Given the description of an element on the screen output the (x, y) to click on. 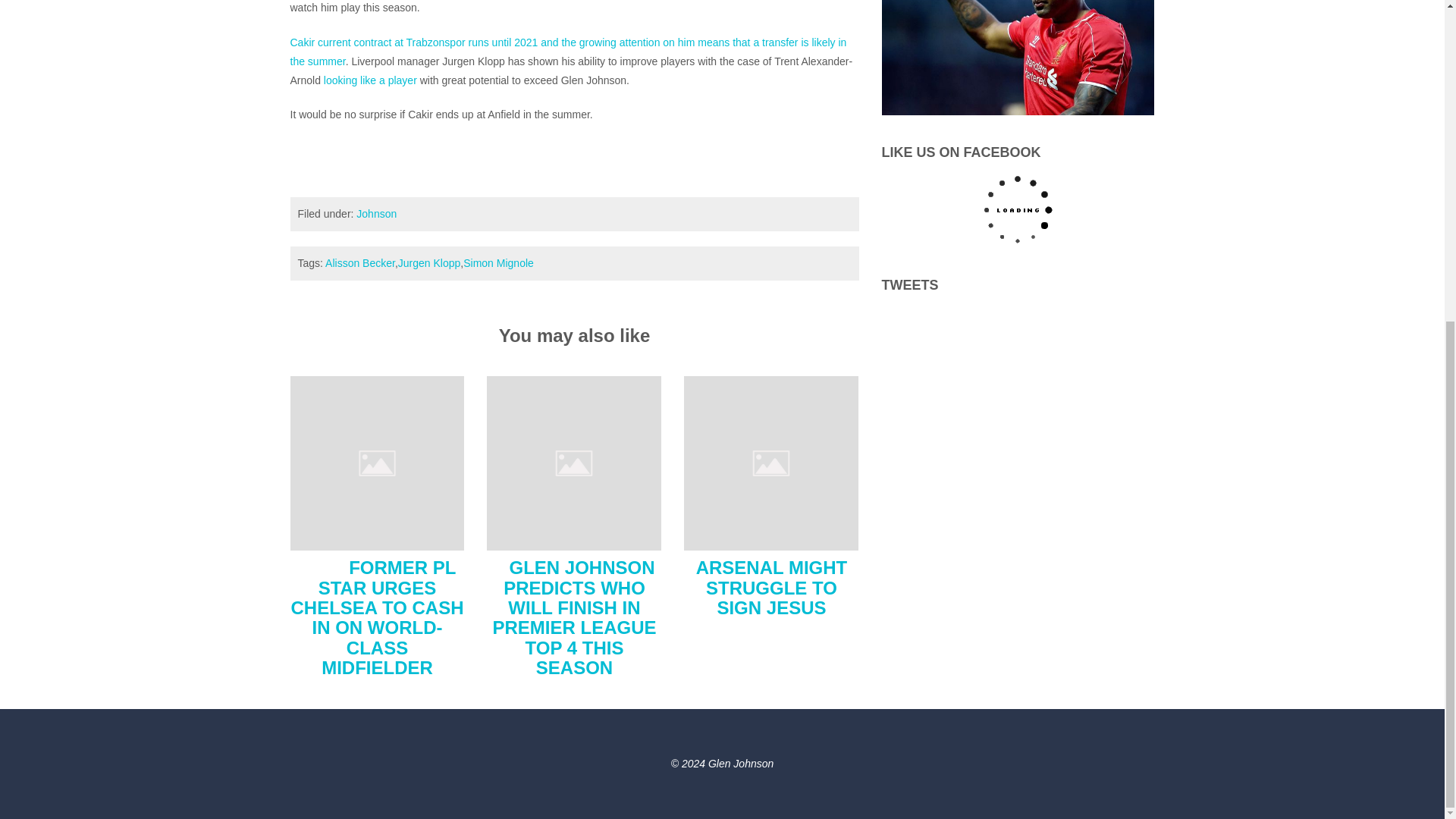
Johnson (376, 214)
looking like a player (369, 80)
Alisson Becker (359, 263)
Jurgen Klopp (429, 263)
ARSENAL MIGHT STRUGGLE TO SIGN JESUS (771, 462)
